Given the description of an element on the screen output the (x, y) to click on. 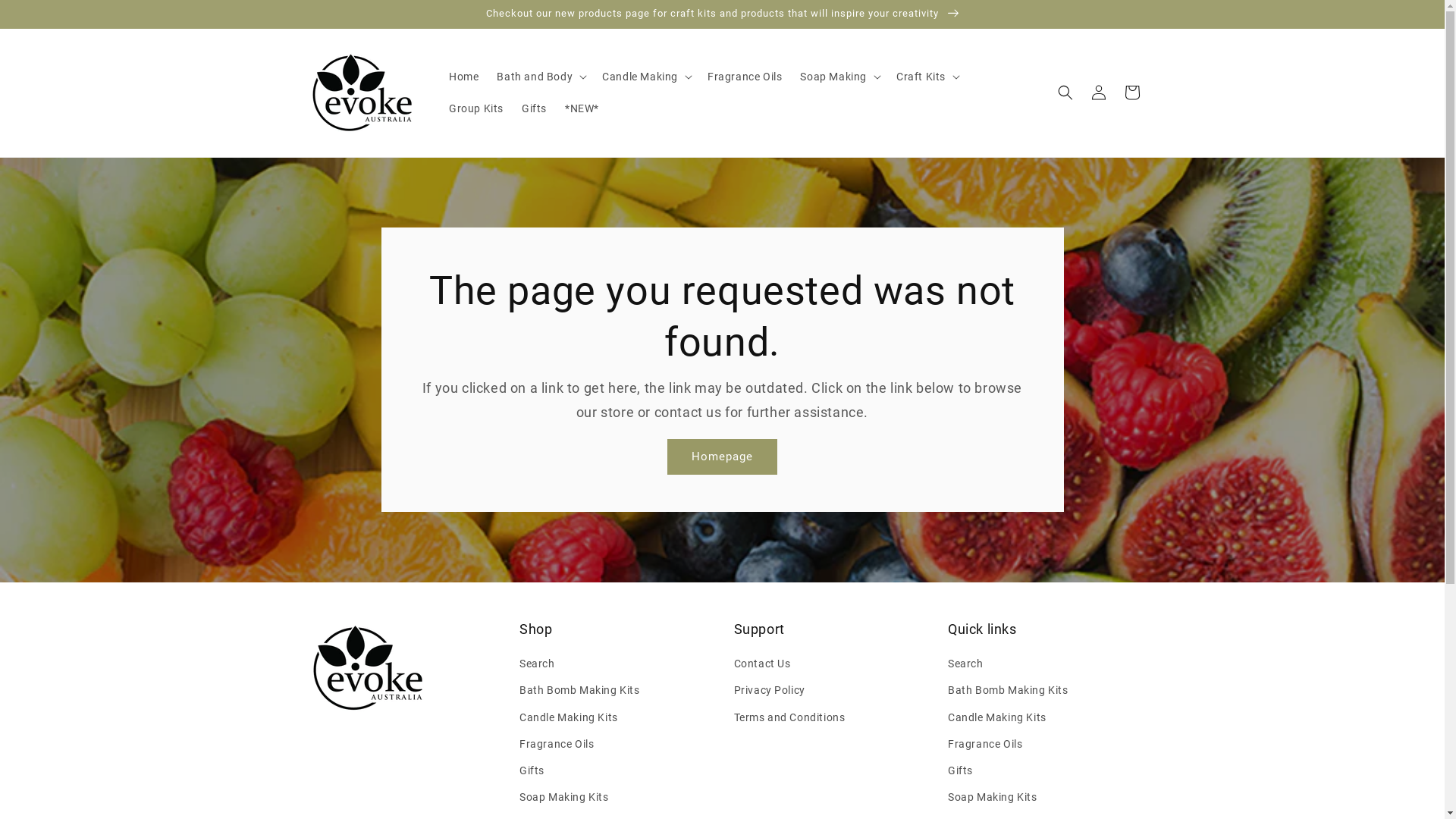
Gifts Element type: text (533, 108)
Soap Making Kits Element type: text (563, 797)
Group Kits Element type: text (475, 108)
Fragrance Oils Element type: text (556, 744)
Contact Us Element type: text (762, 665)
Cart Element type: text (1131, 92)
Bath Bomb Making Kits Element type: text (579, 690)
Candle Making Kits Element type: text (996, 717)
Gifts Element type: text (959, 770)
Home Element type: text (463, 76)
Privacy Policy Element type: text (769, 690)
Soap Making Kits Element type: text (992, 797)
*NEW* Element type: text (581, 108)
Terms and Conditions Element type: text (789, 717)
Search Element type: text (537, 665)
Homepage Element type: text (722, 456)
Fragrance Oils Element type: text (744, 76)
Candle Making Kits Element type: text (568, 717)
Gifts Element type: text (531, 770)
Log in Element type: text (1097, 92)
Search Element type: text (965, 665)
Fragrance Oils Element type: text (984, 744)
Bath Bomb Making Kits Element type: text (1007, 690)
